Given the description of an element on the screen output the (x, y) to click on. 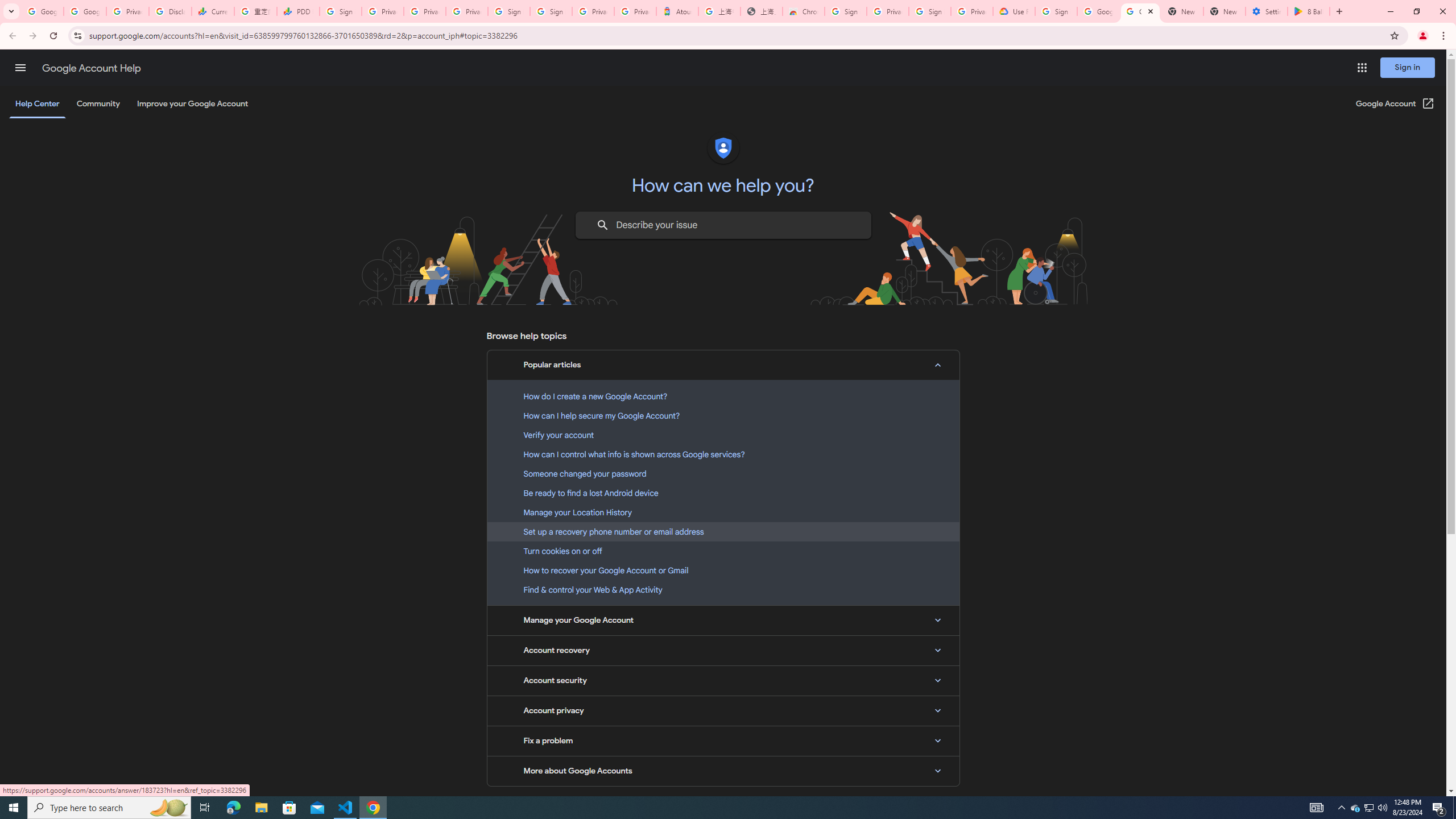
Find & control your Web & App Activity (722, 589)
Privacy Checkup (424, 11)
Currencies - Google Finance (212, 11)
Google Workspace Admin Community (42, 11)
Manage your Location History (722, 512)
Turn cookies on or off (722, 551)
Set up a recovery phone number or email address (722, 531)
Improve your Google Account (192, 103)
Privacy Checkup (467, 11)
